Given the description of an element on the screen output the (x, y) to click on. 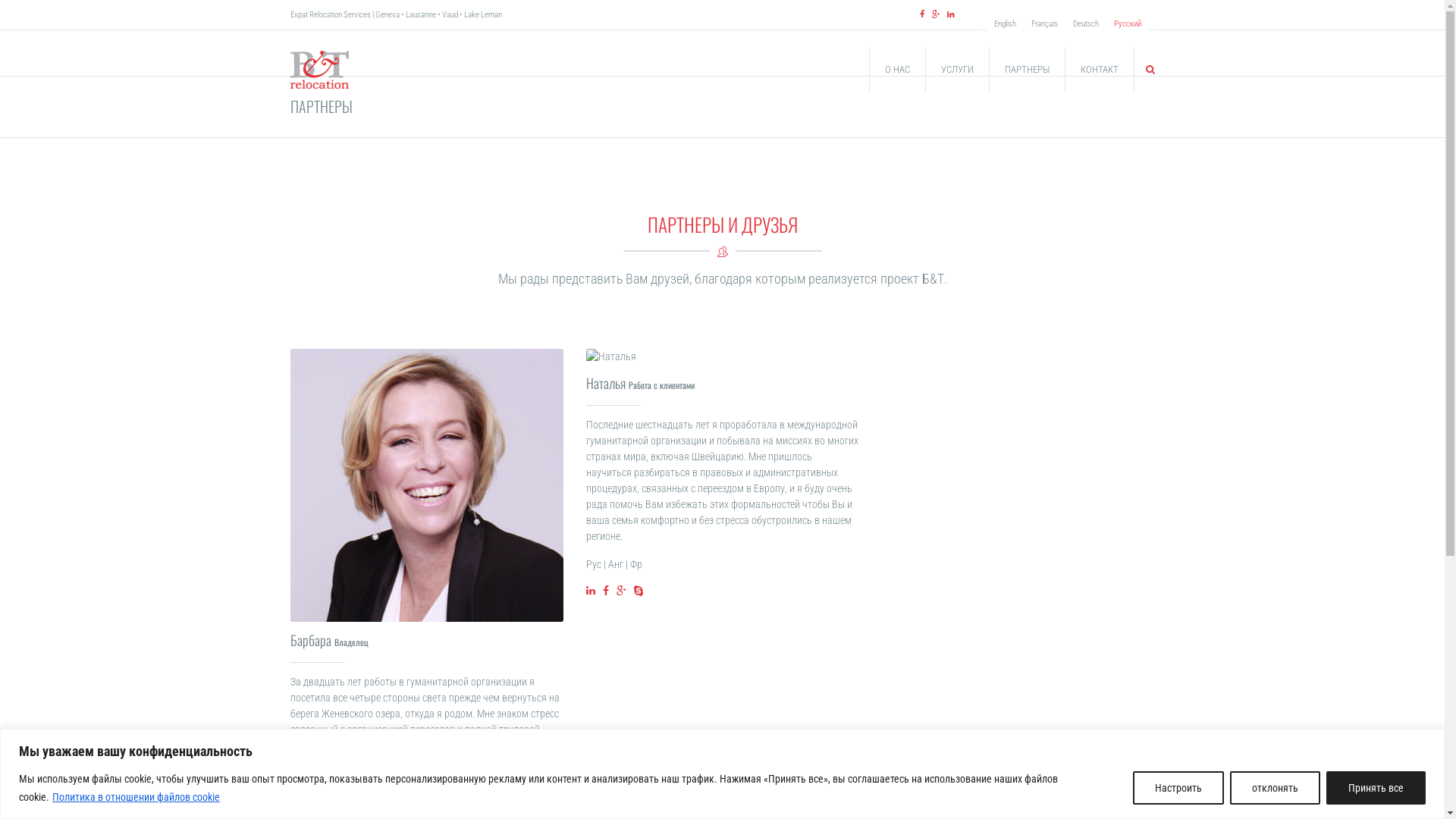
English Element type: text (1003, 23)
Deutsch Element type: text (1084, 23)
